Given the description of an element on the screen output the (x, y) to click on. 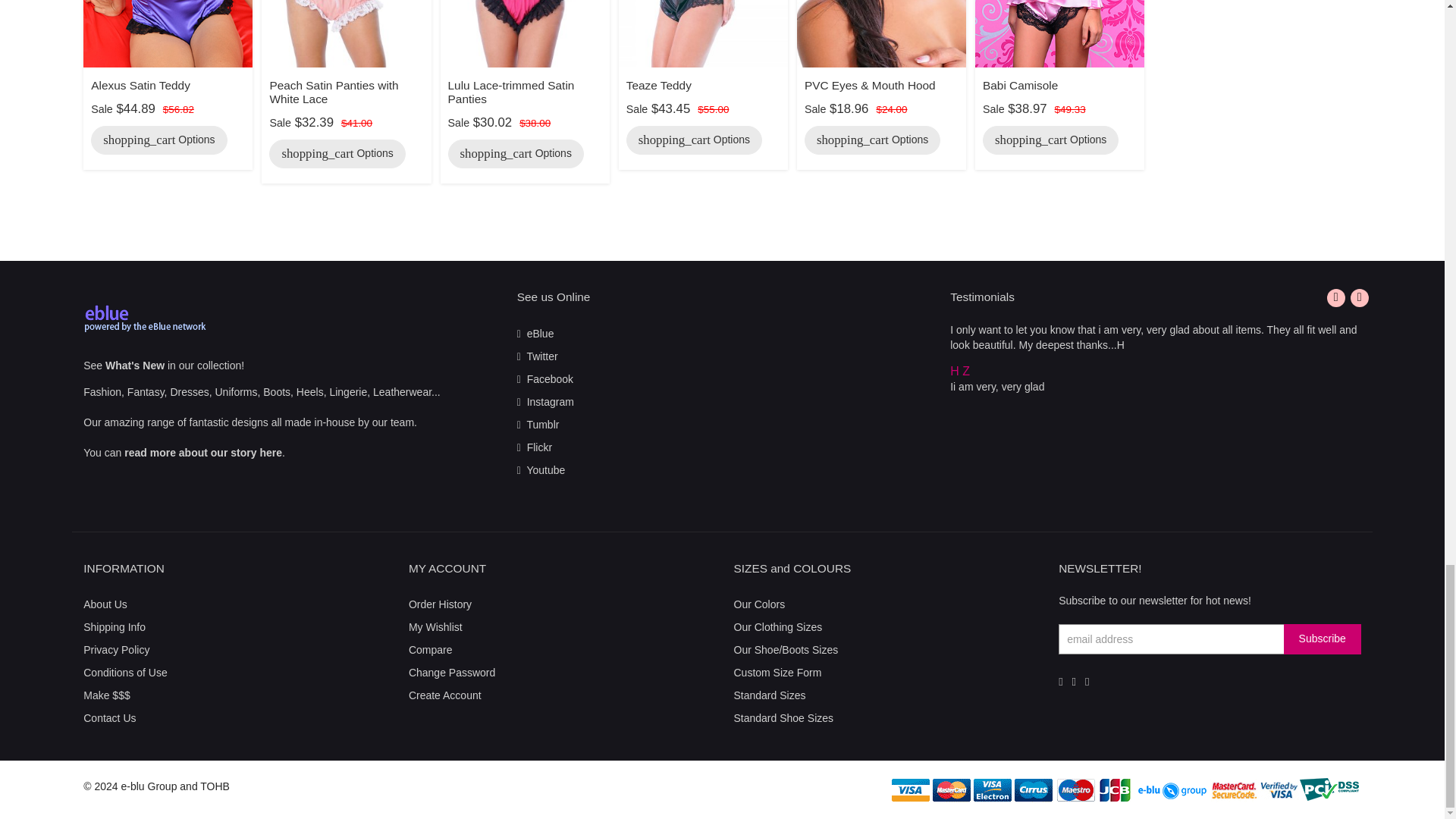
Subscribe (1322, 639)
